Given the description of an element on the screen output the (x, y) to click on. 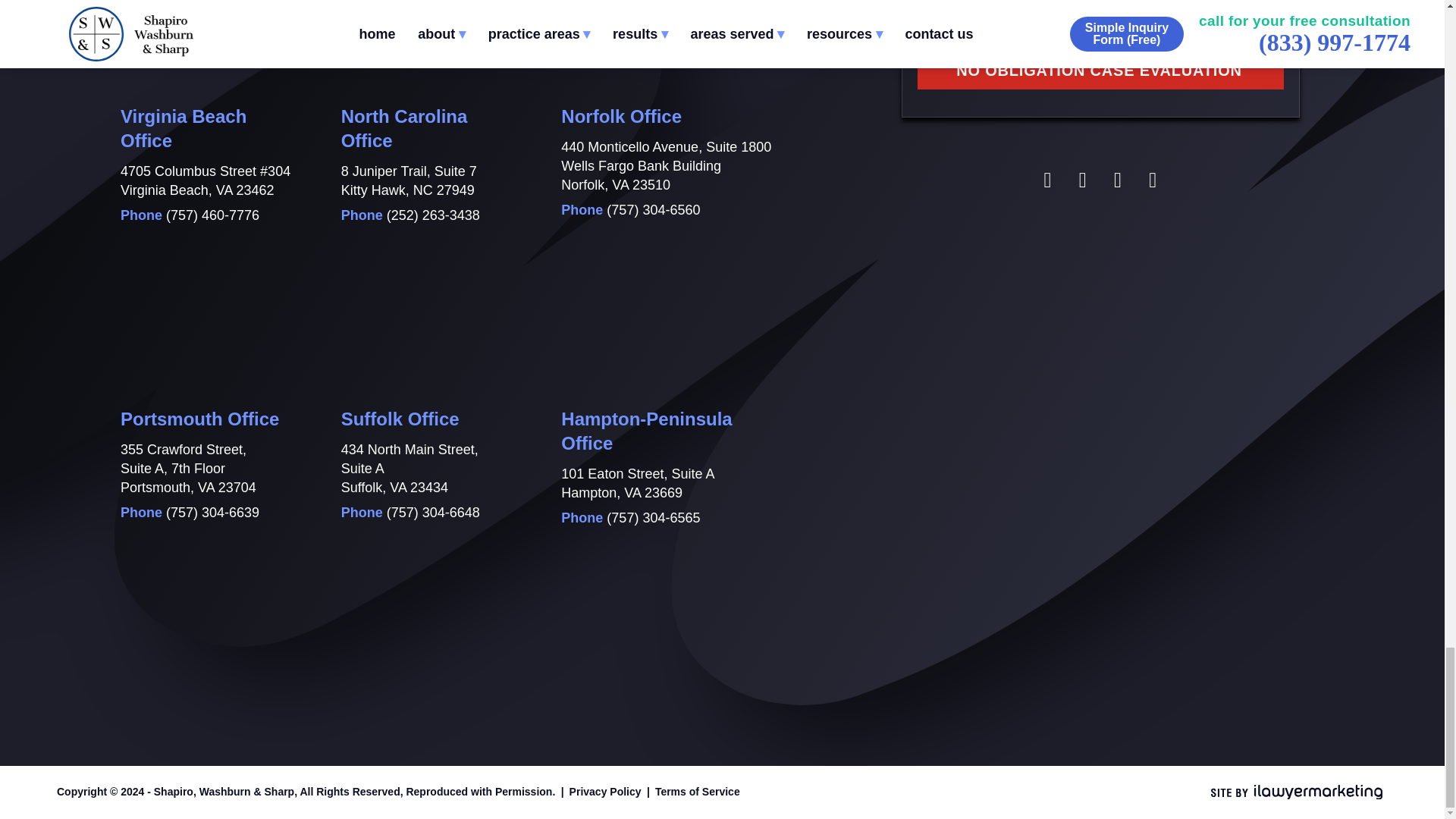
Phone (433, 512)
Fax (411, 19)
Local (191, 19)
Phone (212, 215)
Phone (653, 517)
Phone (653, 209)
Phone (212, 512)
Phone (433, 215)
